Given the description of an element on the screen output the (x, y) to click on. 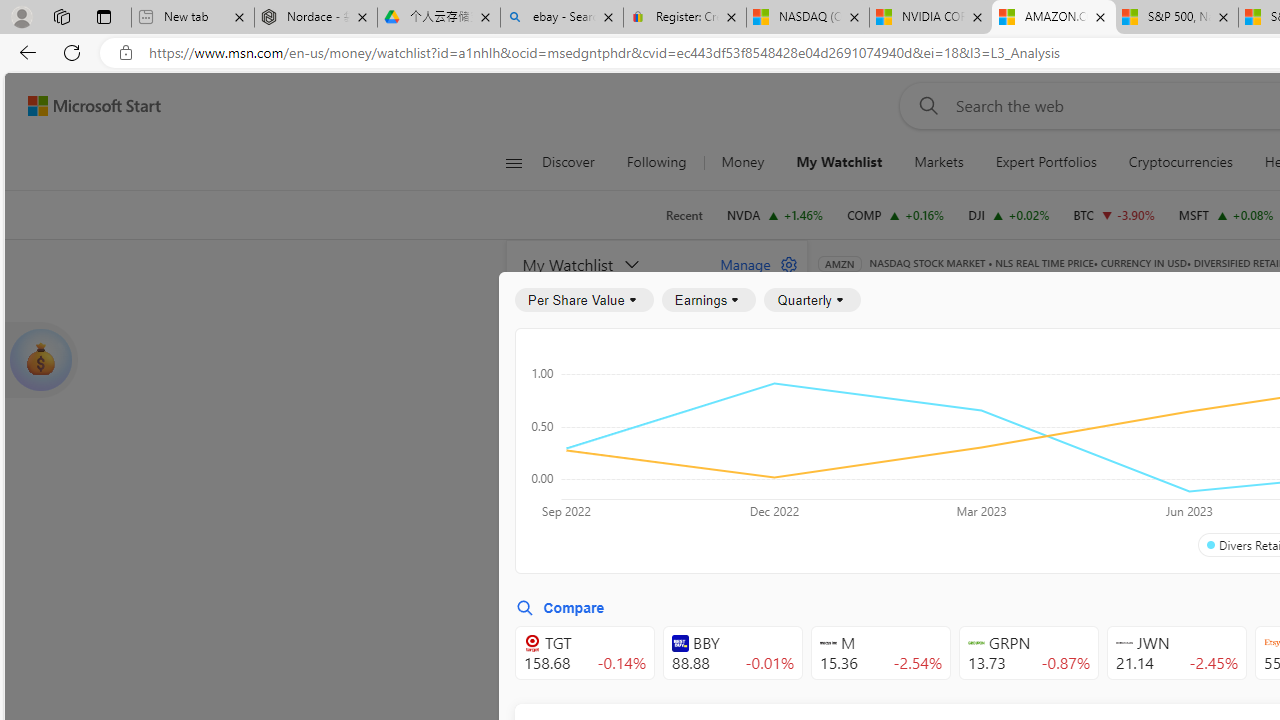
Class: autoSuggestIcon-DS-EntryPoint1-2 (1124, 643)
Microsoft Start (94, 105)
New tab - Sleeping (192, 17)
S&P 500, Nasdaq end lower, weighed by Nvidia dip | Watch (1176, 17)
My Watchlist (838, 162)
Per Share Value (584, 300)
Personal Profile (21, 16)
